Given the description of an element on the screen output the (x, y) to click on. 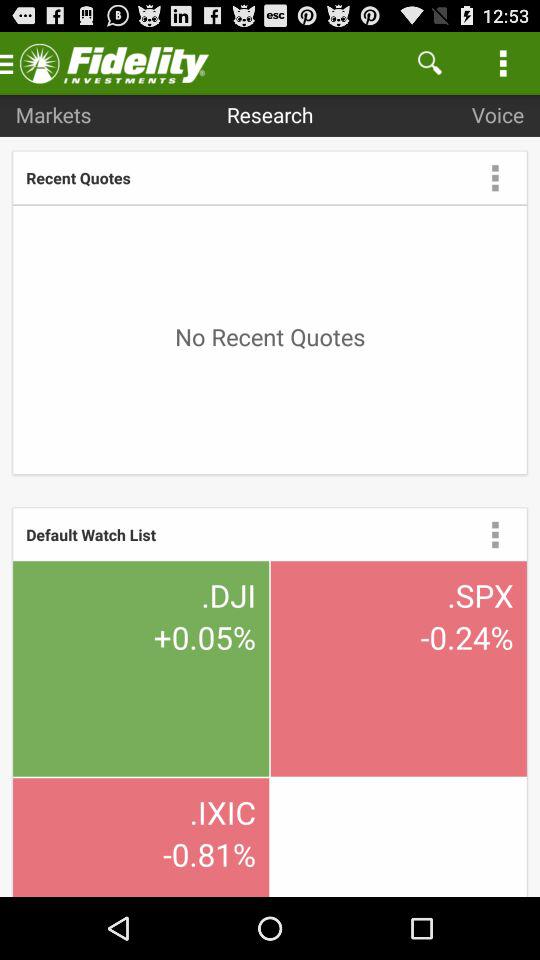
turn off icon above the voice item (429, 62)
